Given the description of an element on the screen output the (x, y) to click on. 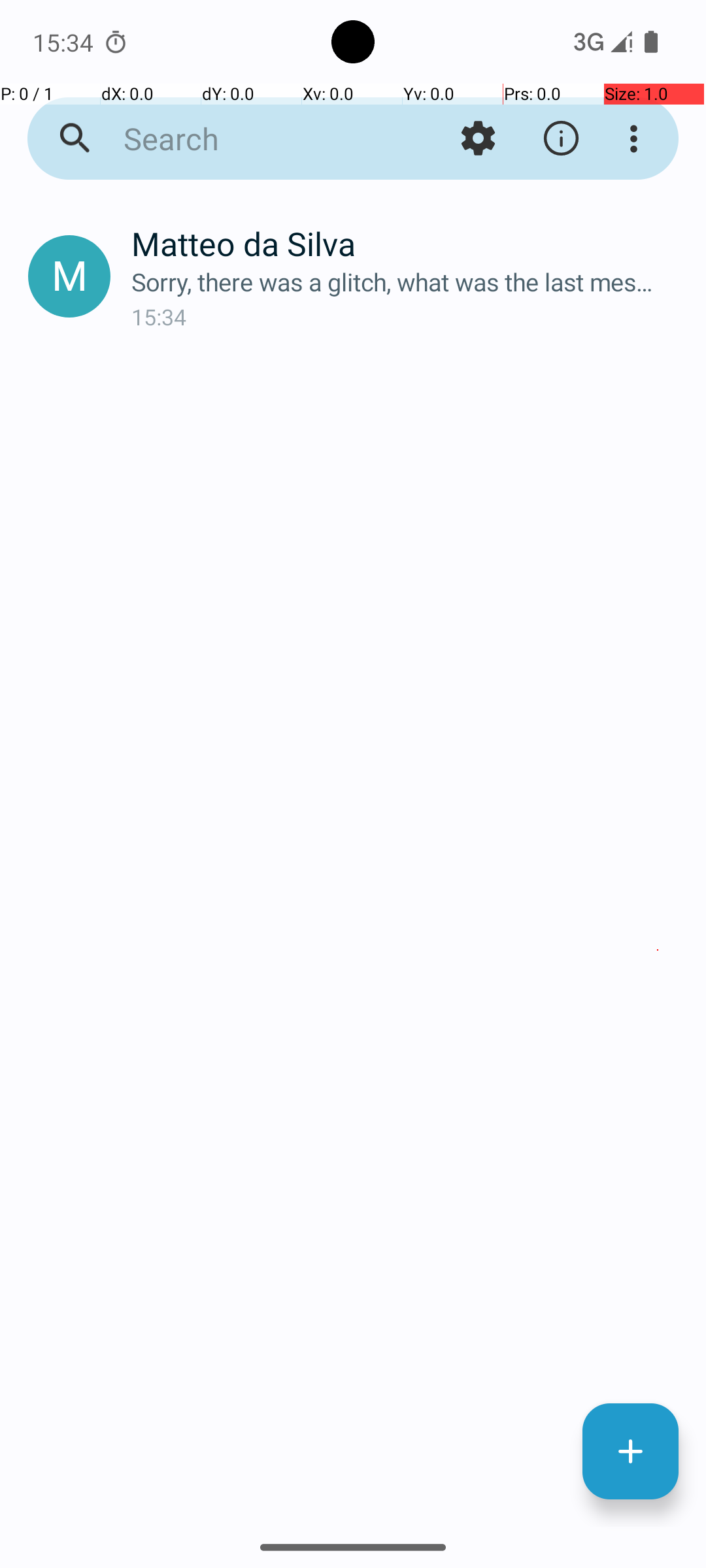
Matteo da Silva Element type: android.widget.TextView (408, 242)
